Given the description of an element on the screen output the (x, y) to click on. 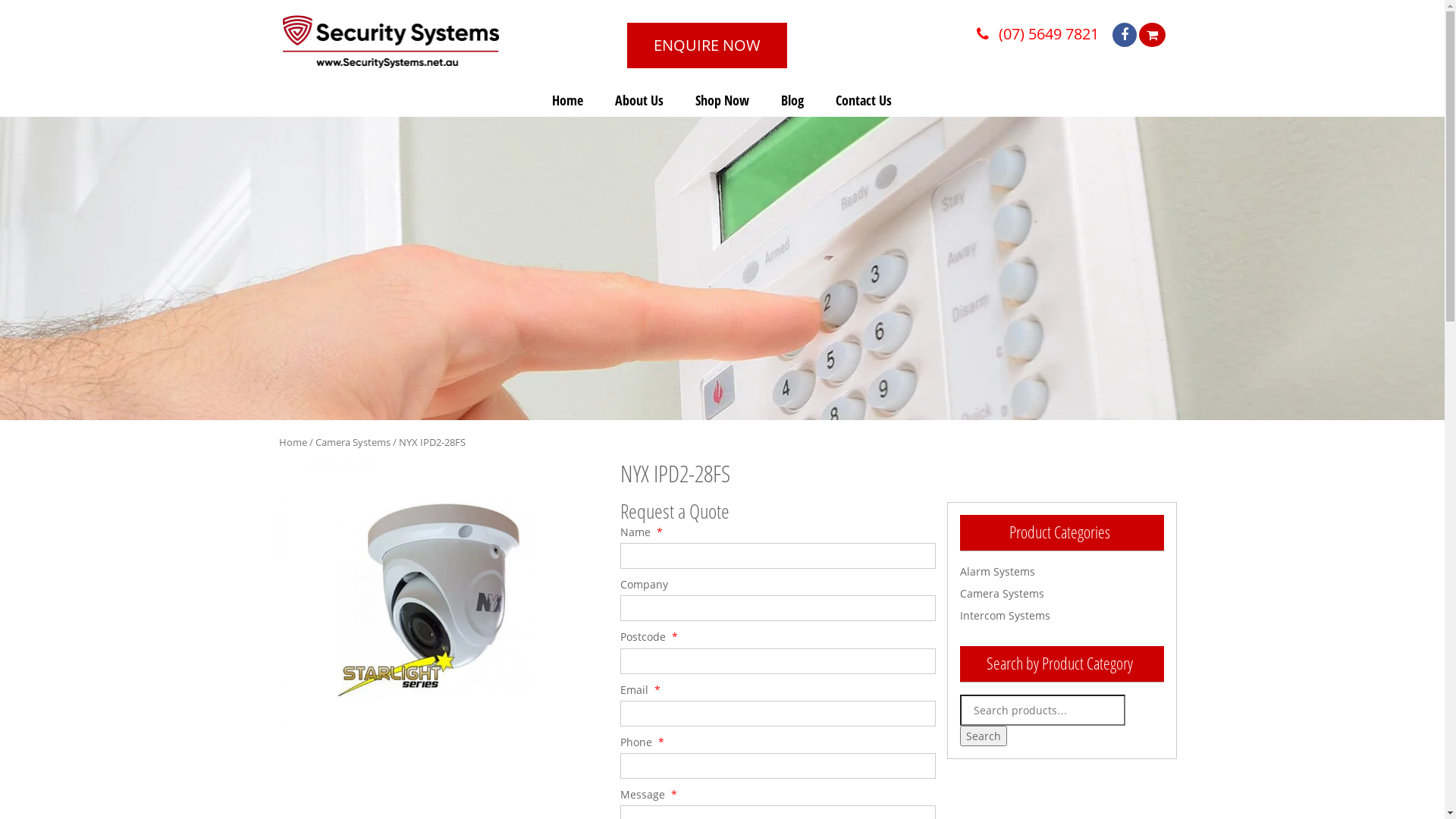
ENQUIRE NOW Element type: text (707, 45)
(07) 5649 7821 Element type: text (1041, 33)
Contact Us Element type: text (863, 99)
Alarm Systems Element type: text (997, 571)
Security Systems Online Element type: hover (391, 41)
facebook Element type: hover (1131, 34)
View your shopping cart Element type: hover (1152, 34)
Home Element type: text (567, 99)
Search Element type: text (983, 735)
Camera Systems Element type: text (1002, 593)
Shop Now Element type: text (722, 99)
Blog Element type: text (792, 99)
Home Element type: text (293, 441)
Starlight Full Color Night Vision Performance Element type: hover (436, 597)
Camera Systems Element type: text (352, 441)
About Us Element type: text (638, 99)
Intercom Systems Element type: text (1005, 615)
